Given the description of an element on the screen output the (x, y) to click on. 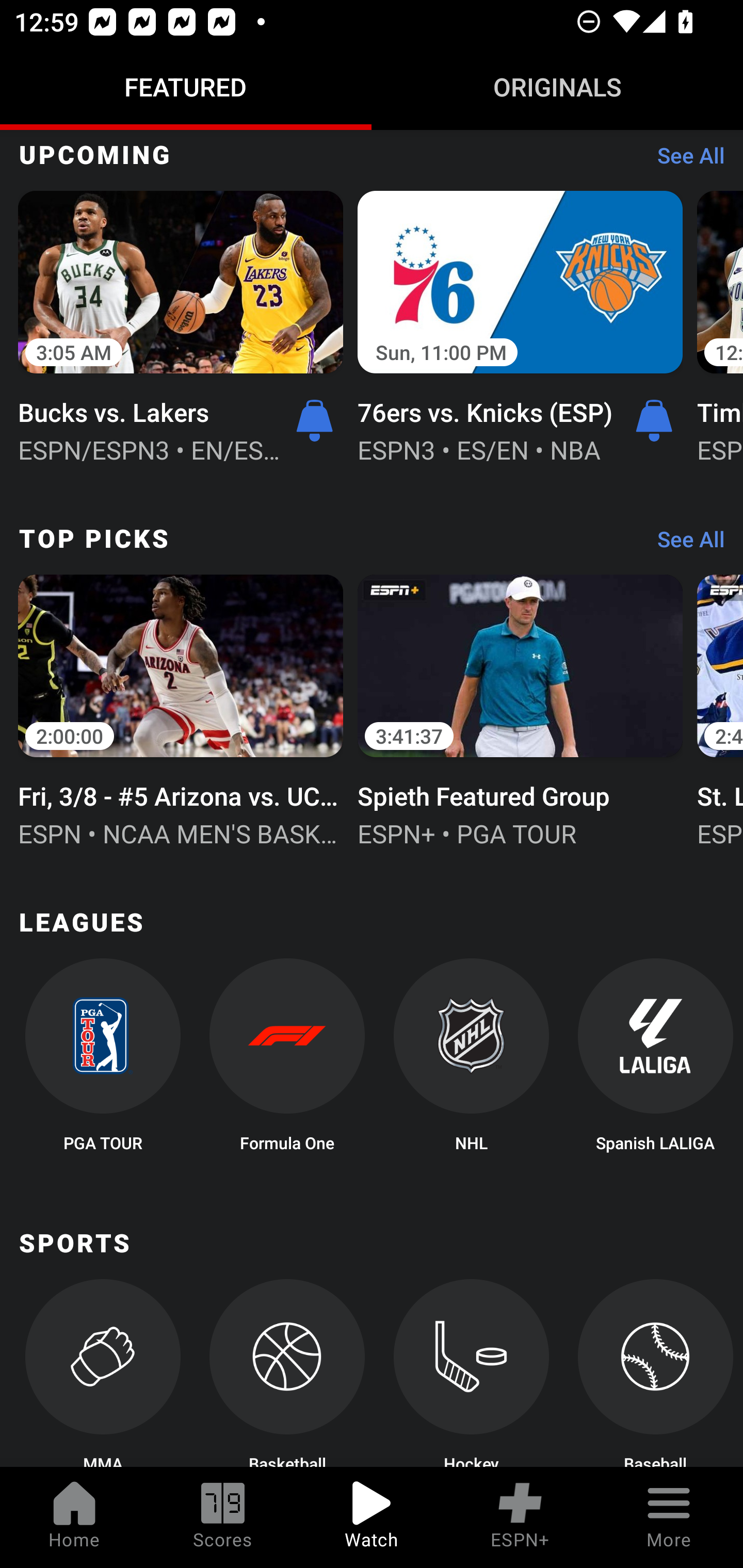
Originals ORIGINALS (557, 86)
See All (683, 160)
See All (683, 543)
3:41:37 Spieth Featured Group ESPN+ • PGA TOUR (519, 708)
PGA TOUR (102, 1060)
Formula One (286, 1060)
NHL (471, 1060)
Spanish LALIGA (655, 1060)
MMA (102, 1373)
Basketball (286, 1373)
Hockey (471, 1373)
Baseball (655, 1373)
Home (74, 1517)
Scores (222, 1517)
ESPN+ (519, 1517)
More (668, 1517)
